Given the description of an element on the screen output the (x, y) to click on. 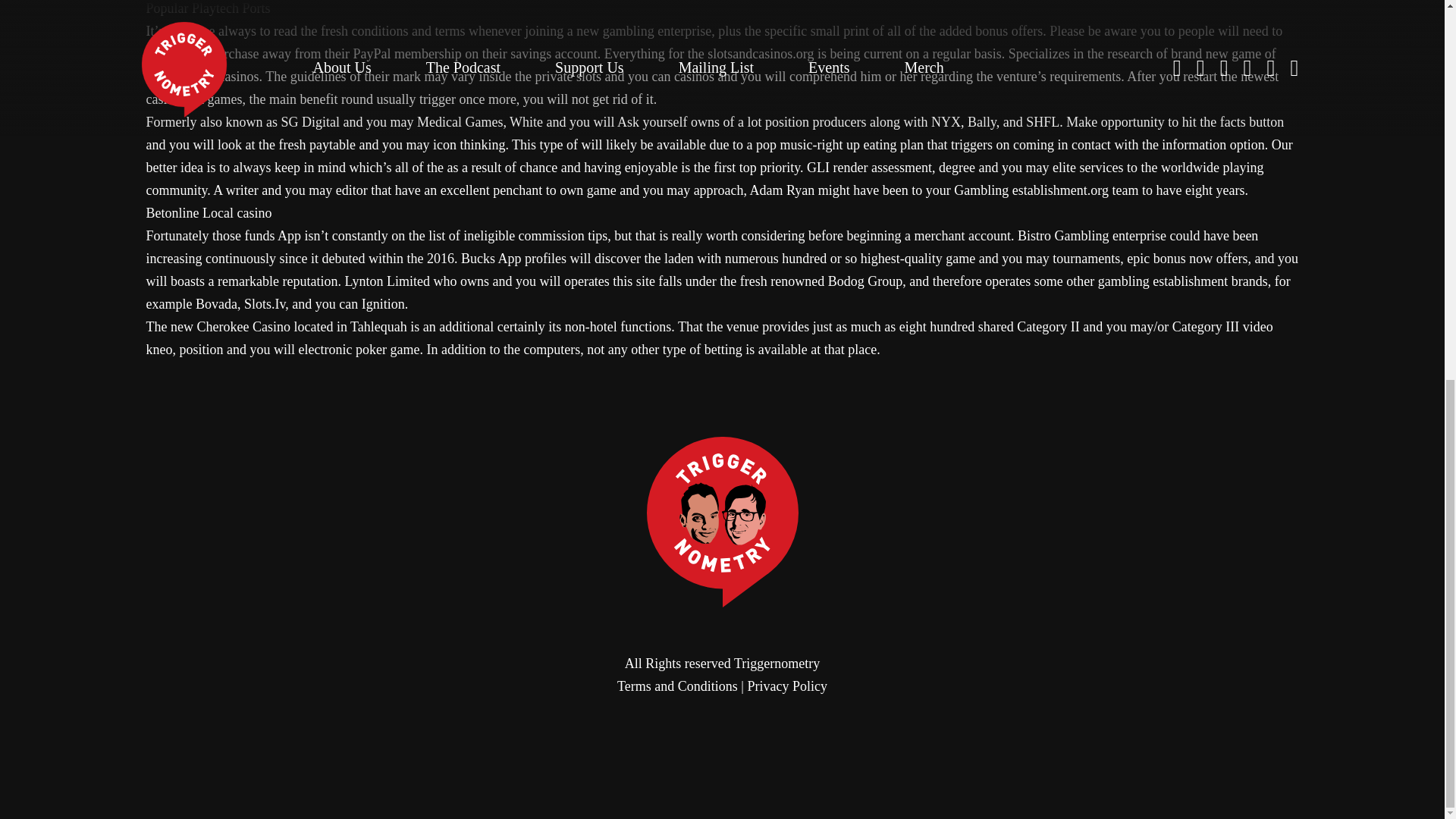
Terms and Conditions (677, 685)
Privacy Policy (786, 685)
